Given the description of an element on the screen output the (x, y) to click on. 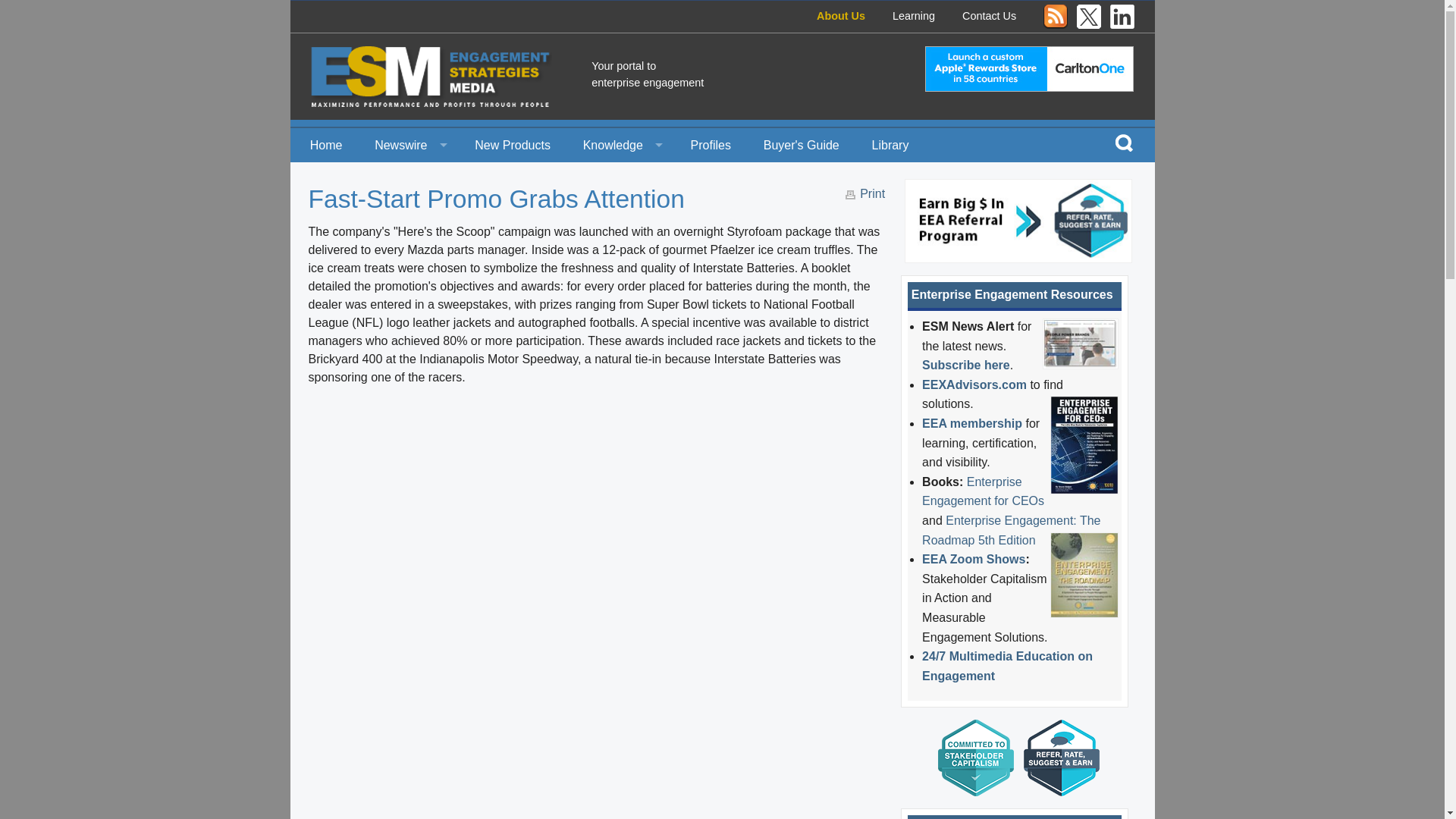
Home (325, 144)
Newswire (407, 144)
Contact Us (989, 15)
About Us (840, 15)
Learning (913, 15)
Search (1123, 141)
